Given the description of an element on the screen output the (x, y) to click on. 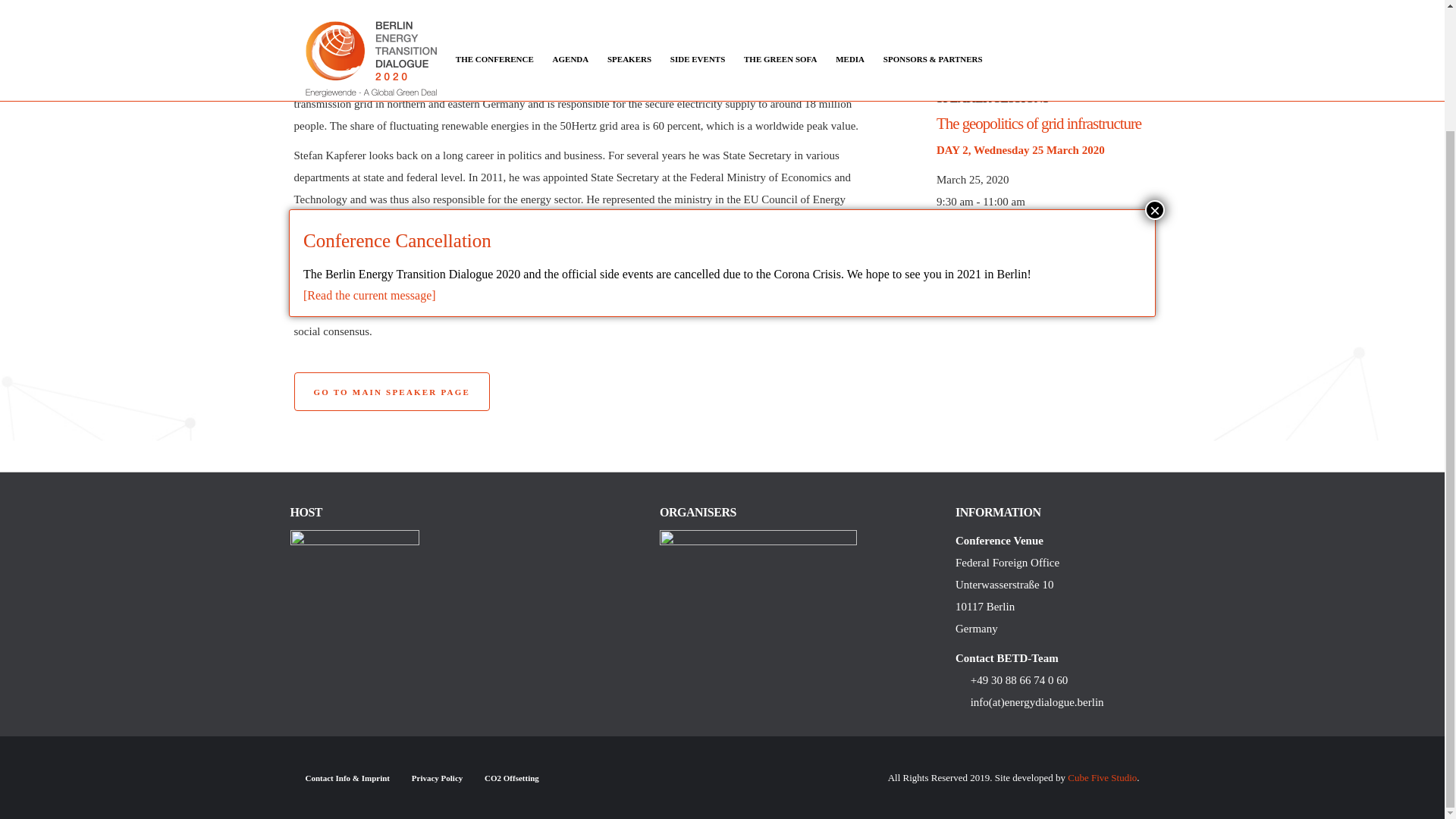
CO2 Offsetting (511, 777)
DAY 2, Wednesday 25 March 2020 (1020, 150)
Cube Five Studio (1102, 777)
The geopolitics of grid infrastructure (1038, 123)
Privacy Policy (437, 777)
GO TO MAIN SPEAKER PAGE (391, 391)
